Given the description of an element on the screen output the (x, y) to click on. 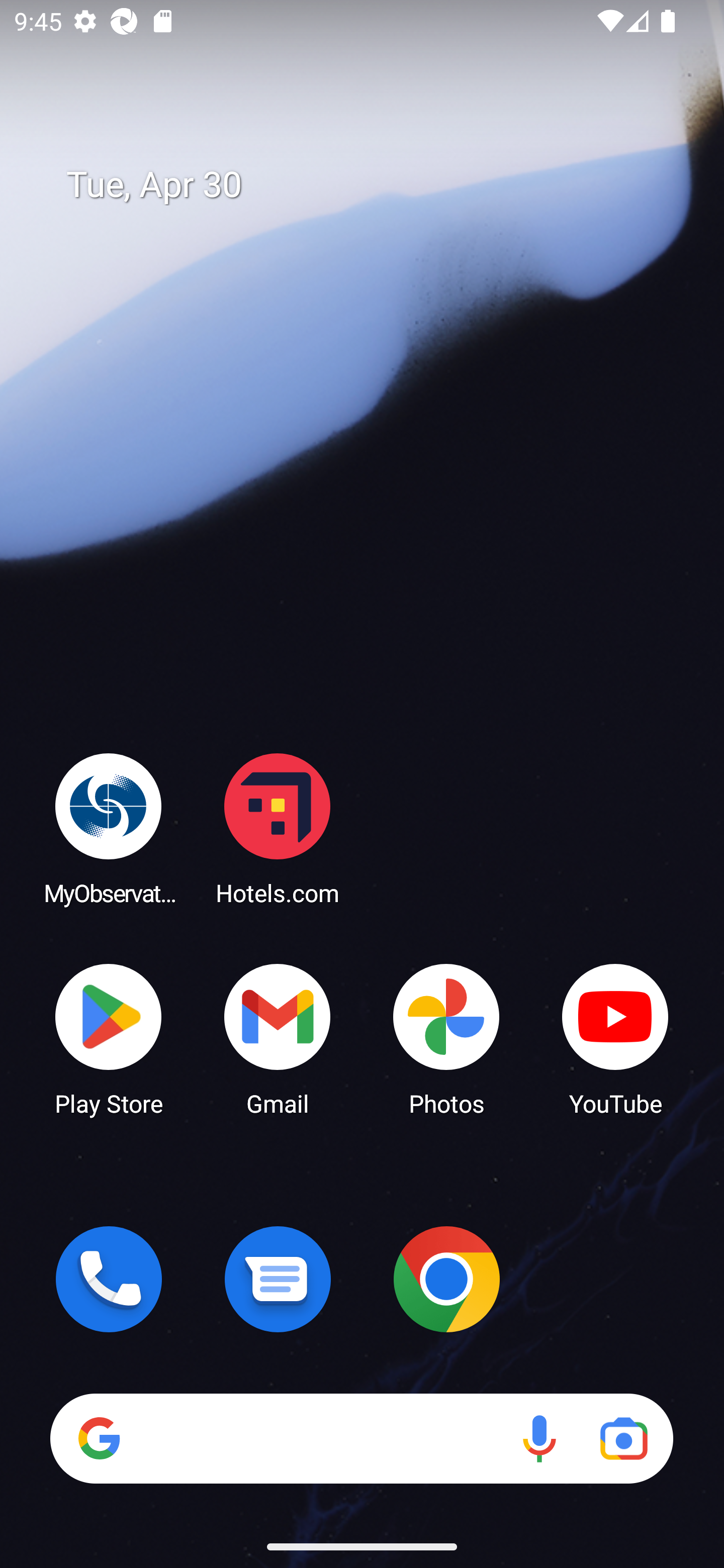
Tue, Apr 30 (375, 184)
MyObservatory (108, 828)
Hotels.com (277, 828)
Play Store (108, 1038)
Gmail (277, 1038)
Photos (445, 1038)
YouTube (615, 1038)
Phone (108, 1279)
Messages (277, 1279)
Chrome (446, 1279)
Voice search (539, 1438)
Google Lens (623, 1438)
